Given the description of an element on the screen output the (x, y) to click on. 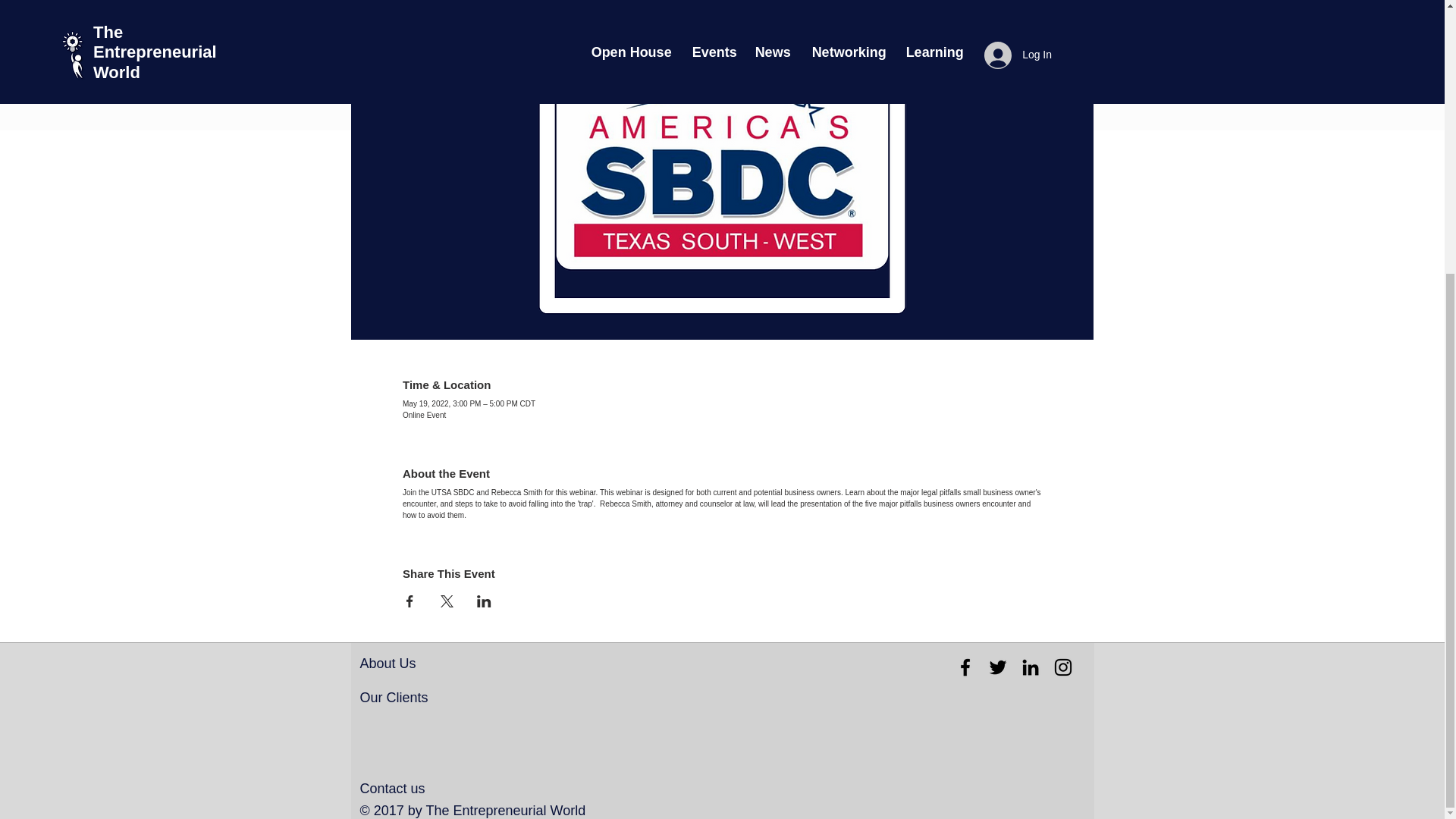
About Us (386, 663)
Our Clients (393, 697)
Contact us (392, 788)
